Given the description of an element on the screen output the (x, y) to click on. 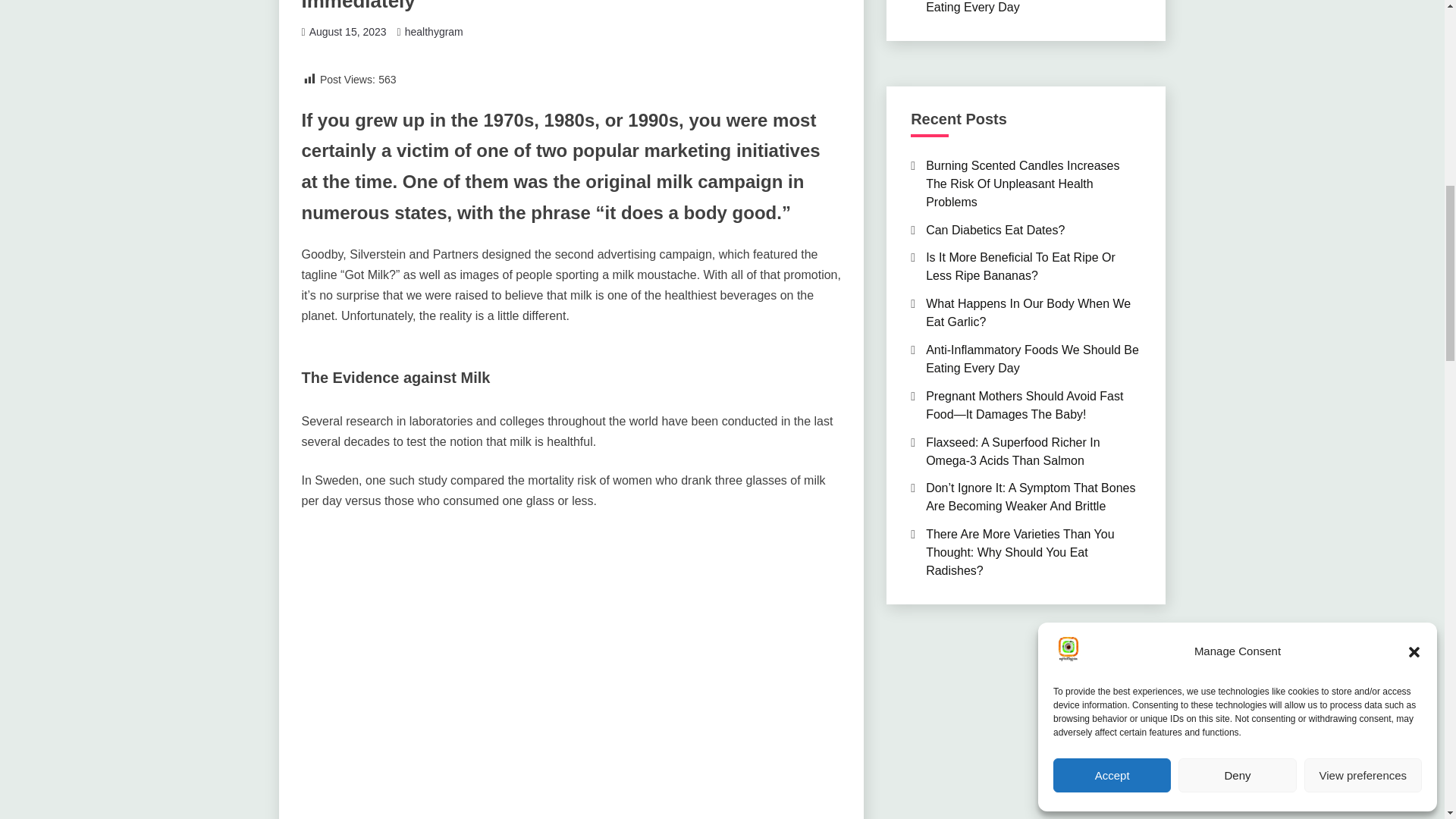
healthygram (433, 31)
August 15, 2023 (347, 31)
